Given the description of an element on the screen output the (x, y) to click on. 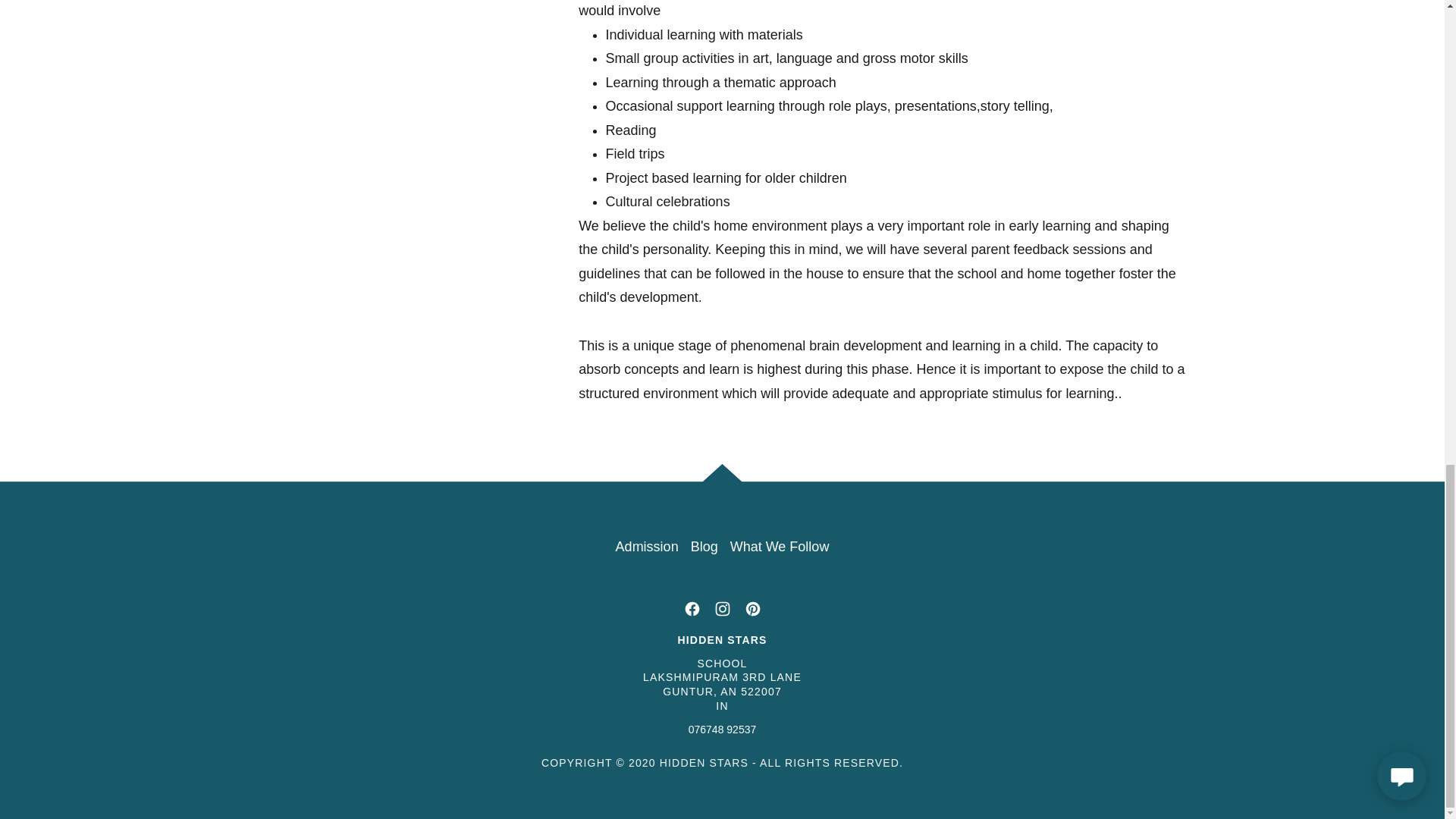
What We Follow (779, 546)
Admission (647, 546)
076748 92537 (722, 729)
Blog (703, 546)
DECLINE (1203, 56)
